Given the description of an element on the screen output the (x, y) to click on. 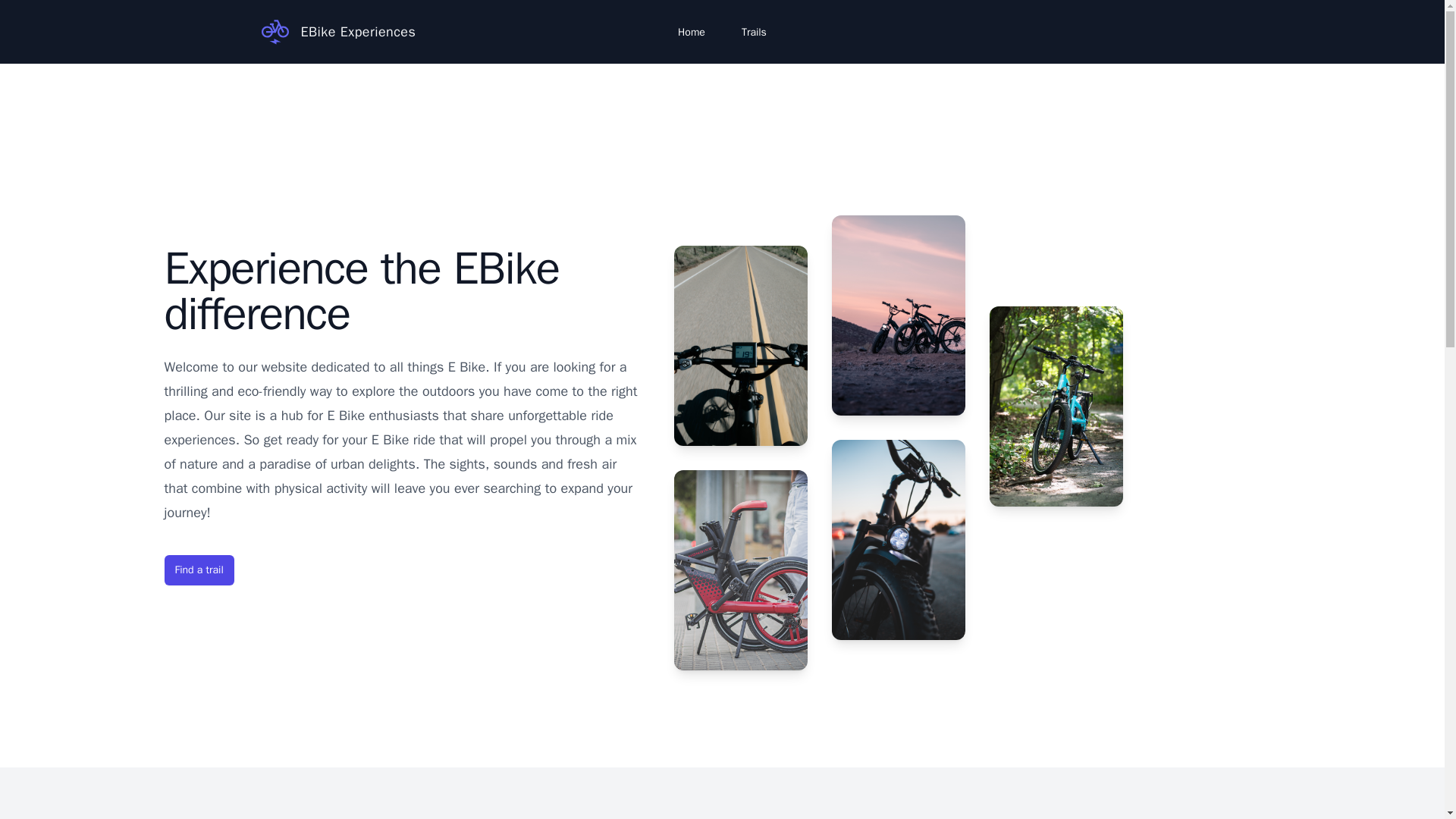
Home (691, 31)
Trails (754, 31)
Find a trail (197, 570)
Florida EBike Experiences (338, 31)
Florida EBike Experiences (691, 31)
Florida EBike Trails (338, 31)
Florida EBike Trails (197, 570)
